Given the description of an element on the screen output the (x, y) to click on. 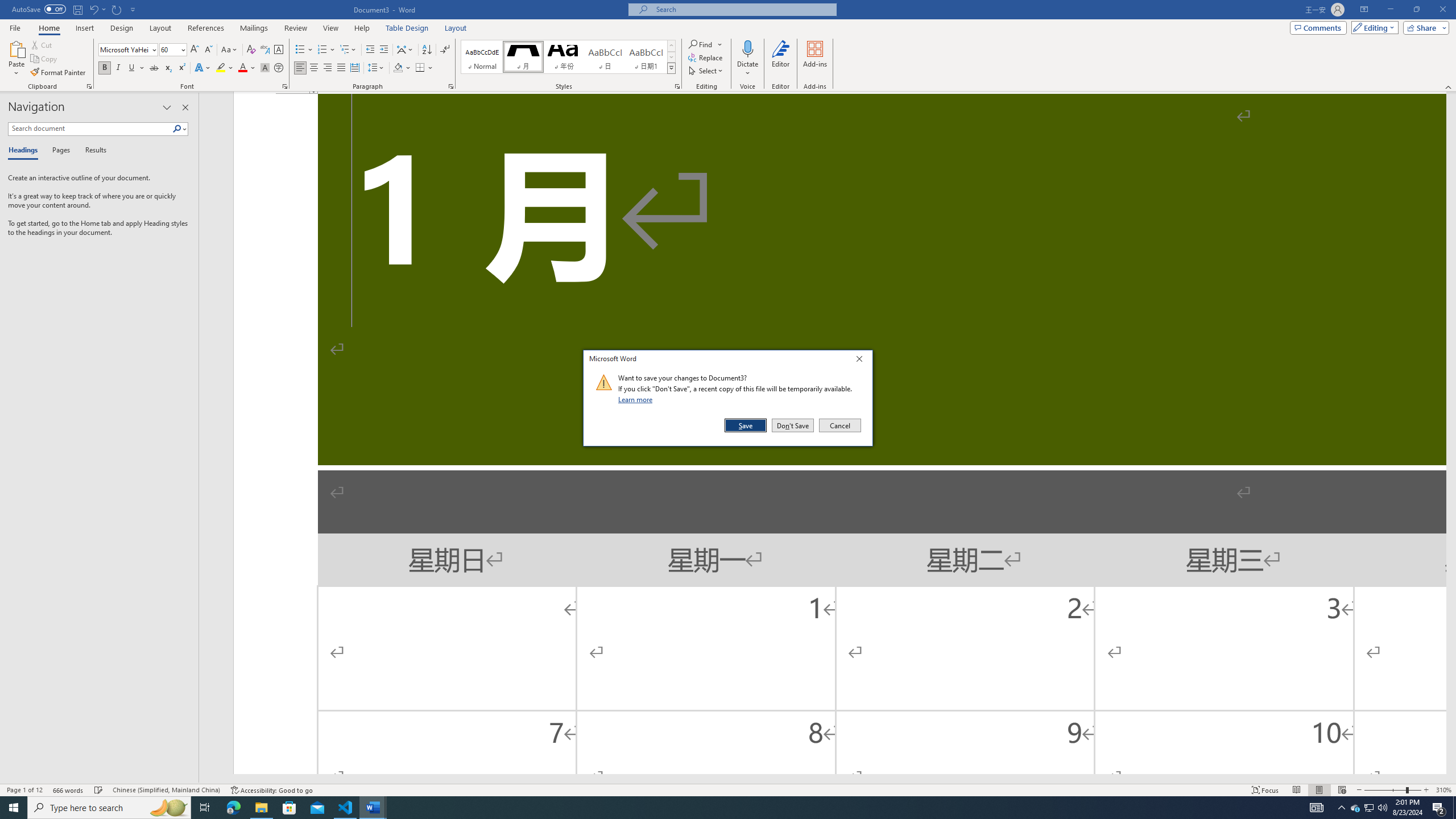
Cancel (839, 425)
Microsoft Store (289, 807)
Select (705, 69)
Start (13, 807)
